Given the description of an element on the screen output the (x, y) to click on. 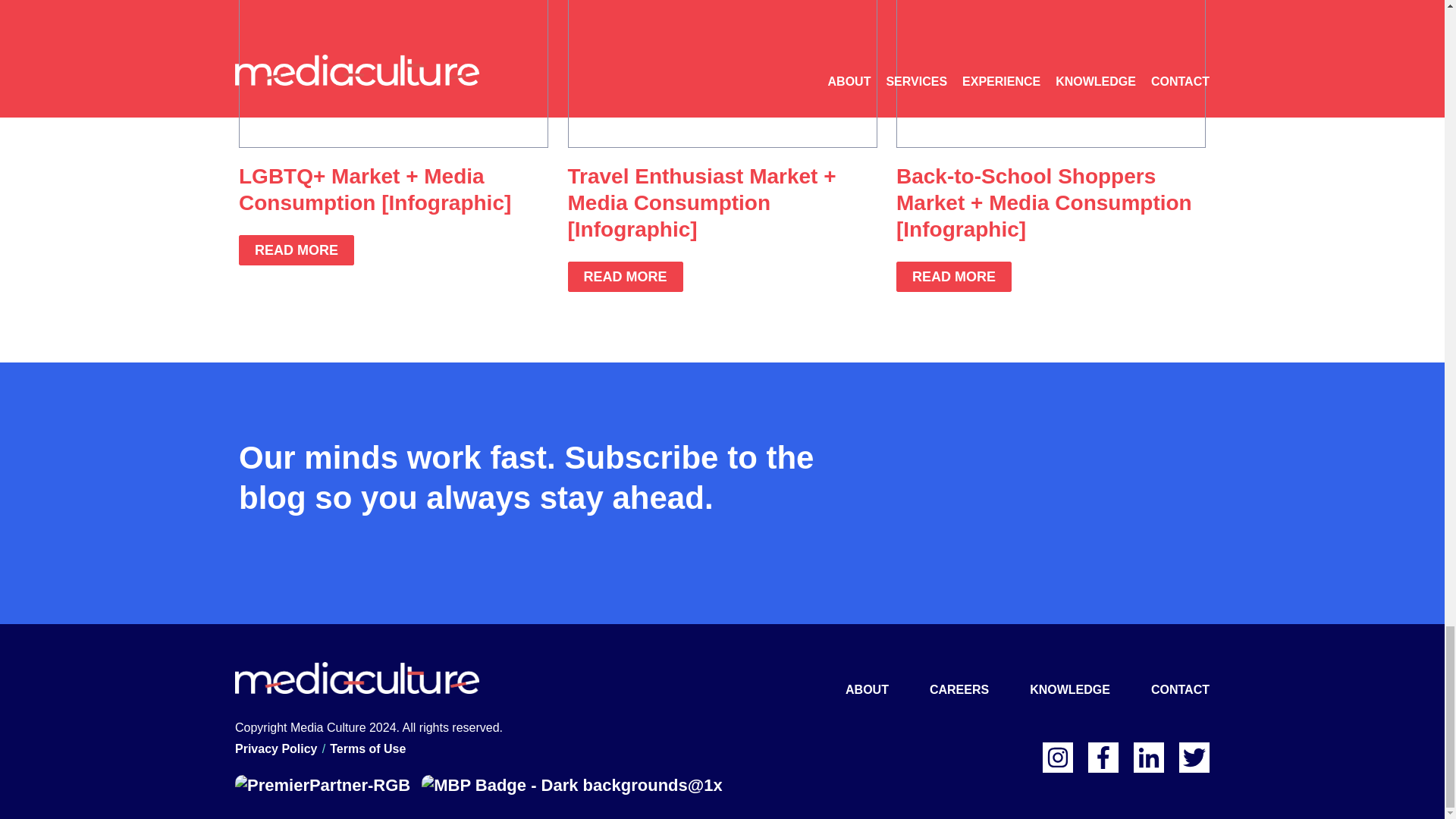
ABOUT (866, 689)
READ MORE (624, 276)
KNOWLEDGE (1069, 689)
Terms of Use (368, 749)
CONTACT (1180, 689)
Privacy Policy (275, 749)
READ MORE (953, 276)
Media Culture Reversed Logo (356, 676)
CAREERS (959, 689)
READ MORE (295, 249)
